Given the description of an element on the screen output the (x, y) to click on. 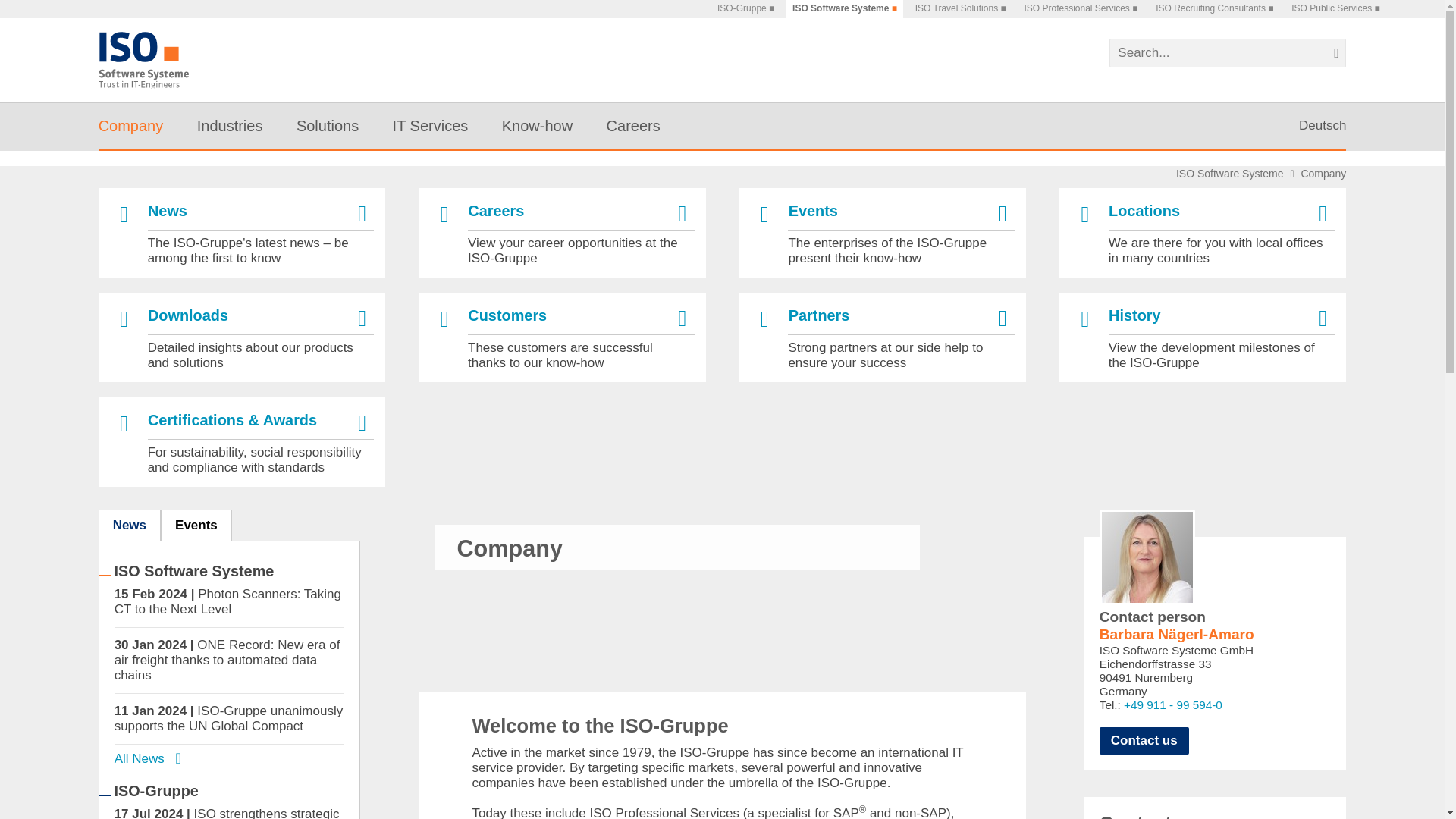
Solutions (327, 125)
Company (131, 125)
Industries (229, 125)
